Given the description of an element on the screen output the (x, y) to click on. 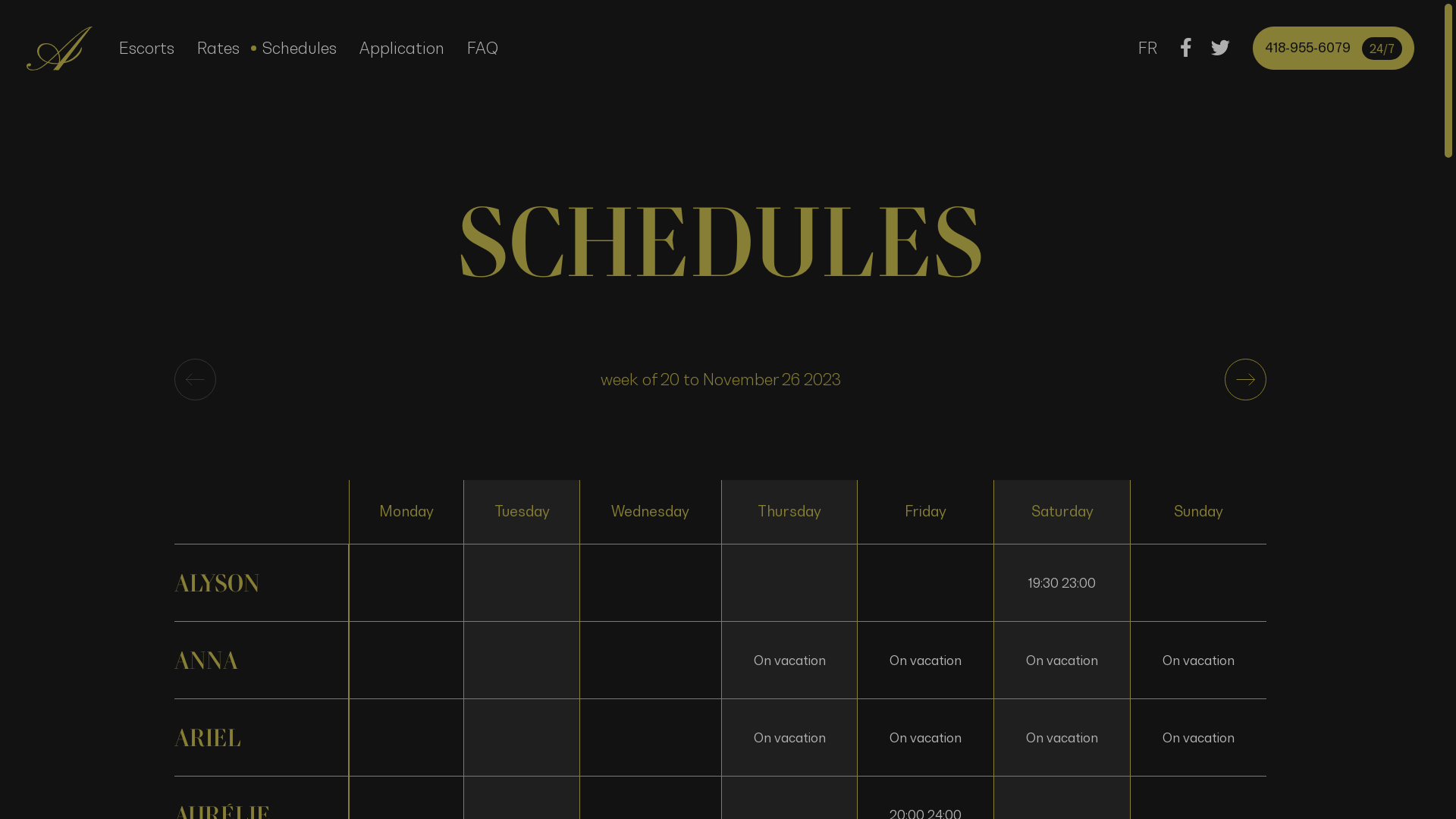
FAQ Element type: text (482, 48)
ARIEL Element type: text (261, 737)
Escorts Element type: text (146, 48)
ALYSON Element type: text (261, 582)
Schedules Element type: text (299, 48)
Application Element type: text (401, 48)
ANNA Element type: text (261, 659)
Rates Element type: text (218, 48)
FR Element type: text (1147, 48)
418-955-607924/7 Element type: text (1333, 47)
